Given the description of an element on the screen output the (x, y) to click on. 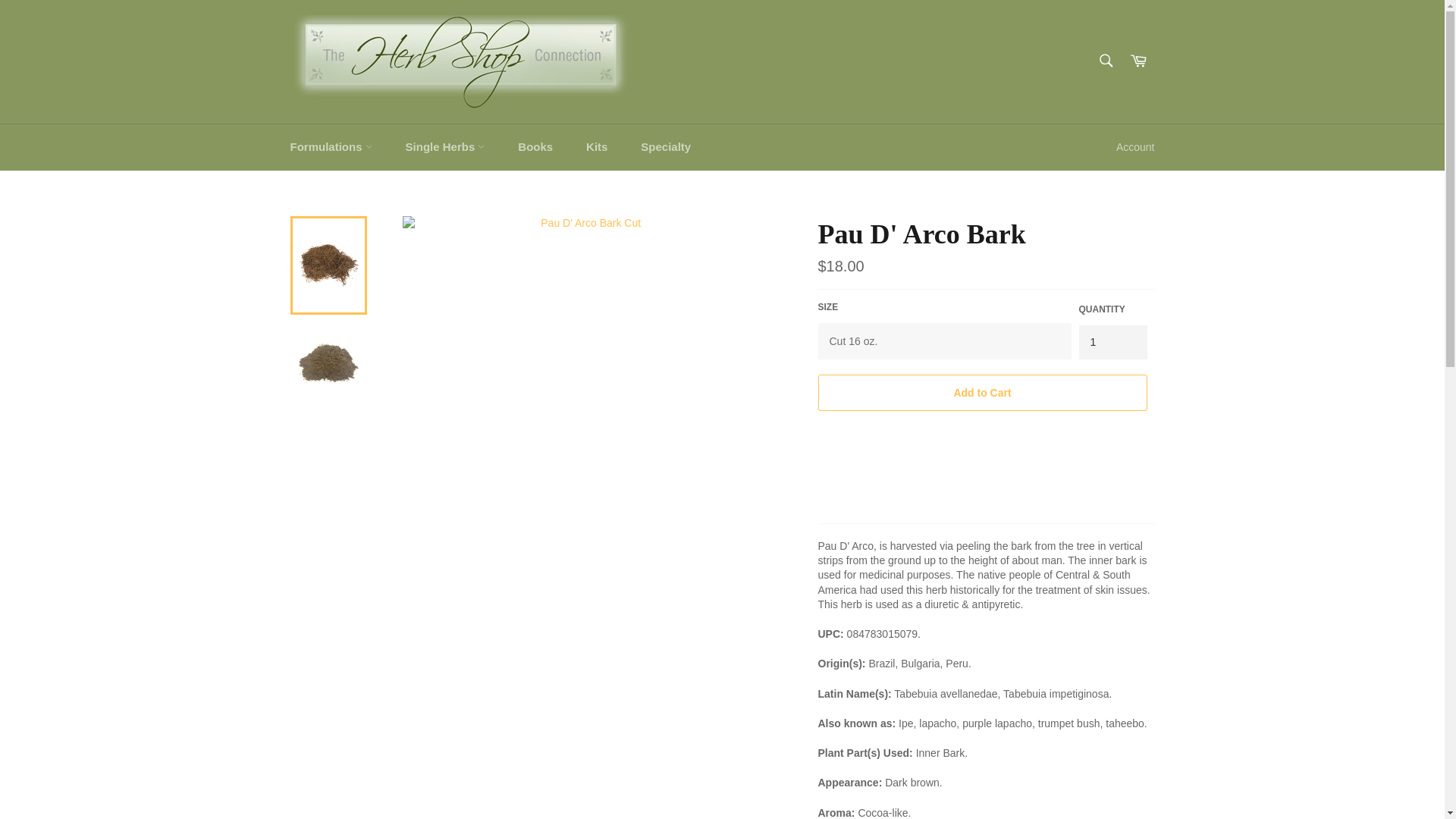
Search (1104, 60)
Cart (1138, 61)
Formulations (331, 147)
Single Herbs (445, 147)
1 (1112, 342)
